Given the description of an element on the screen output the (x, y) to click on. 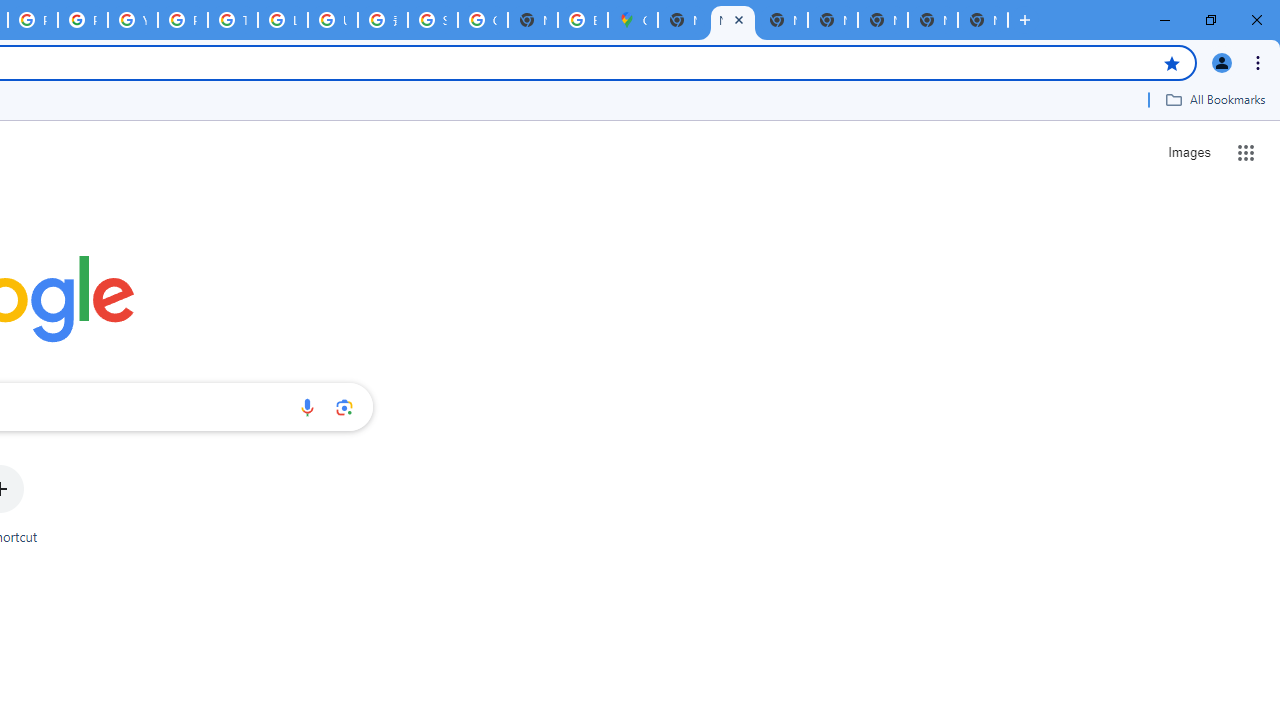
New Tab (982, 20)
Google Maps (632, 20)
Explore new street-level details - Google Maps Help (582, 20)
Tips & tricks for Chrome - Google Chrome Help (232, 20)
Sign in - Google Accounts (433, 20)
